Given the description of an element on the screen output the (x, y) to click on. 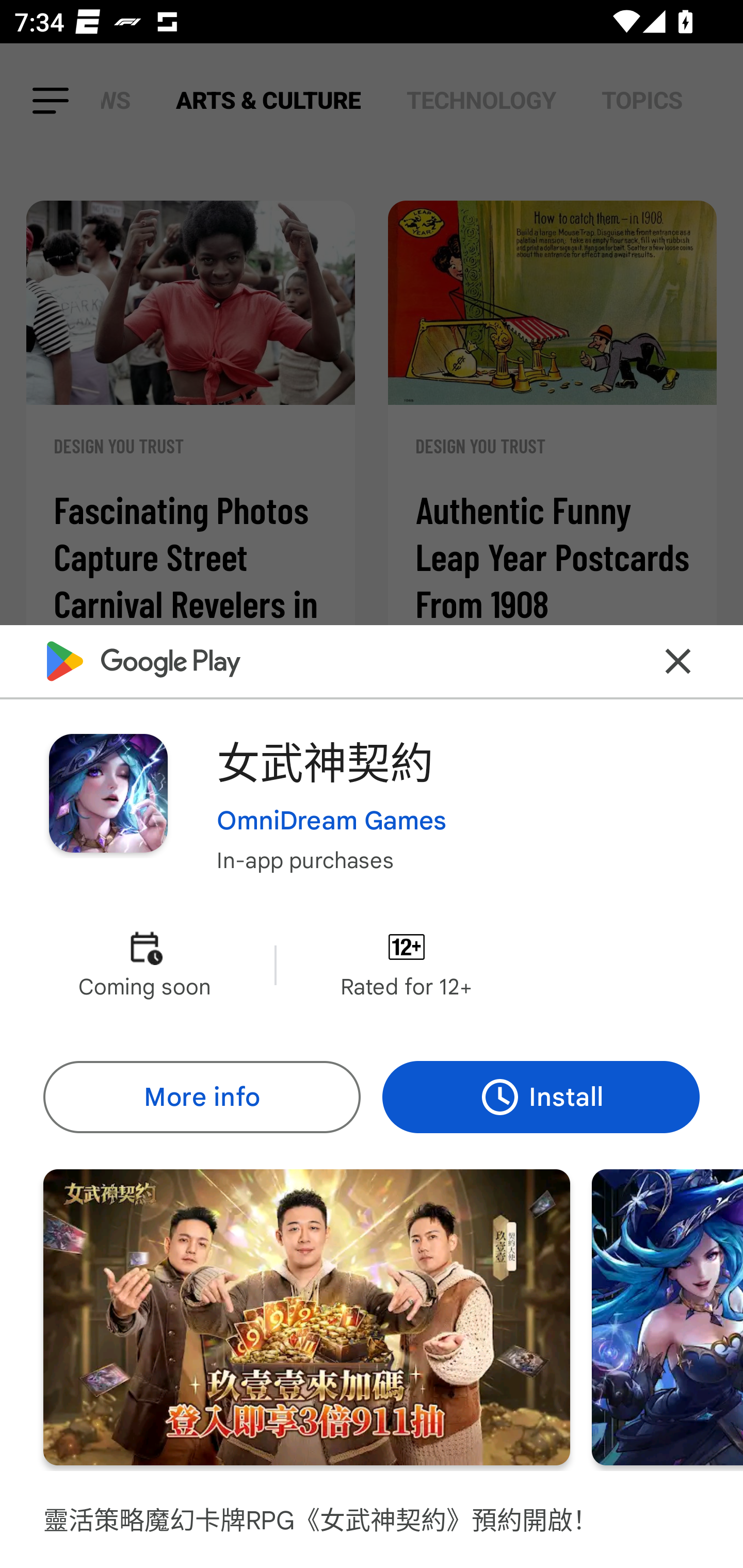
Close (677, 661)
Image of app or game icon for 女武神契約 (108, 792)
OmniDream Games (331, 820)
More info (201, 1097)
Install (540, 1097)
Screenshot "1" of "5" (306, 1317)
